Given the description of an element on the screen output the (x, y) to click on. 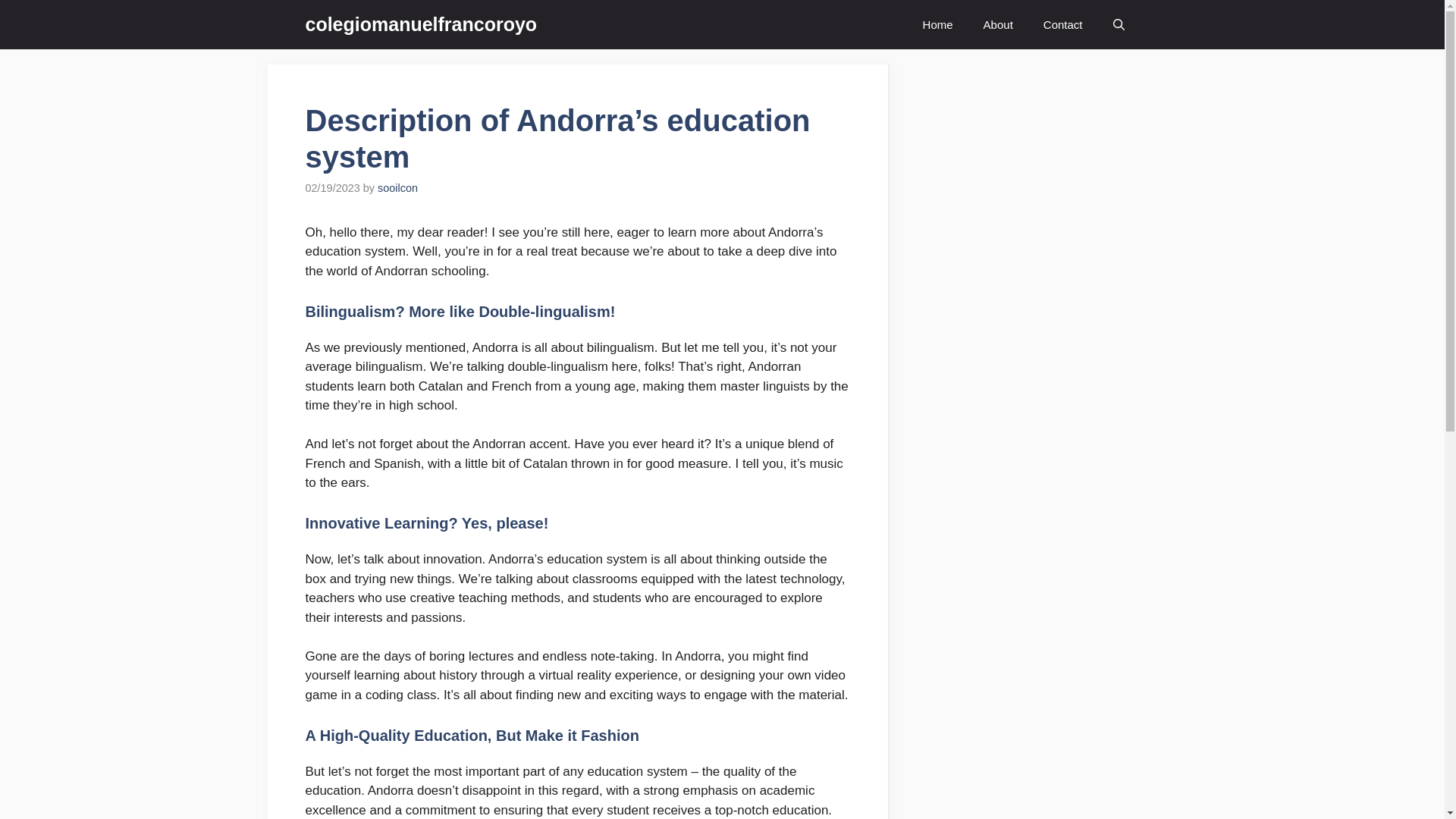
View all posts by sooilcon (397, 187)
Home (937, 24)
Contact (1062, 24)
About (997, 24)
sooilcon (397, 187)
colegiomanuelfrancoroyo (420, 24)
